Given the description of an element on the screen output the (x, y) to click on. 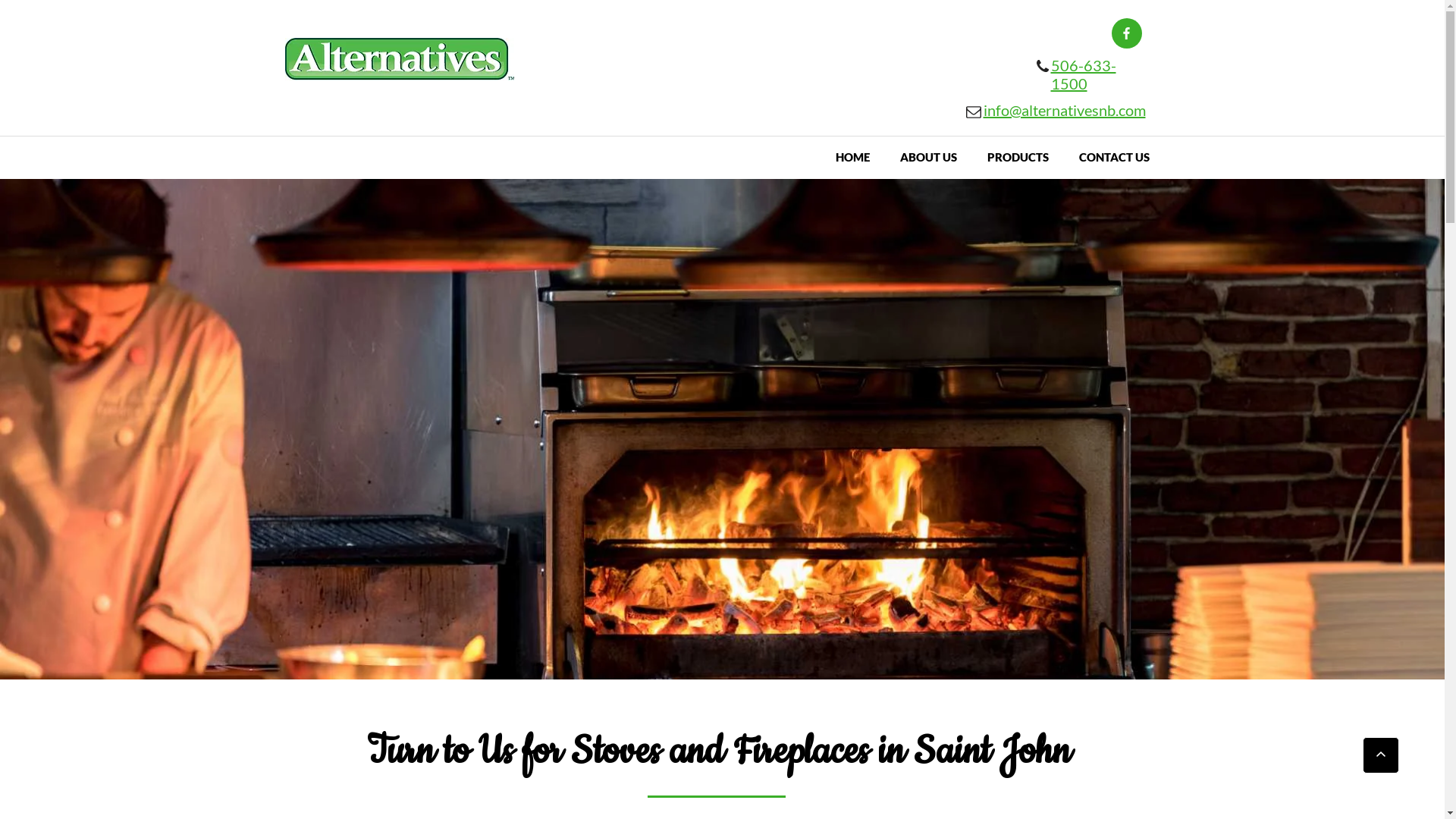
CONTACT US Element type: text (1113, 157)
info@alternativesnb.com Element type: text (1063, 113)
ABOUT US Element type: text (928, 157)
506-633-1500 Element type: text (1083, 77)
HOME Element type: text (852, 157)
